Given the description of an element on the screen output the (x, y) to click on. 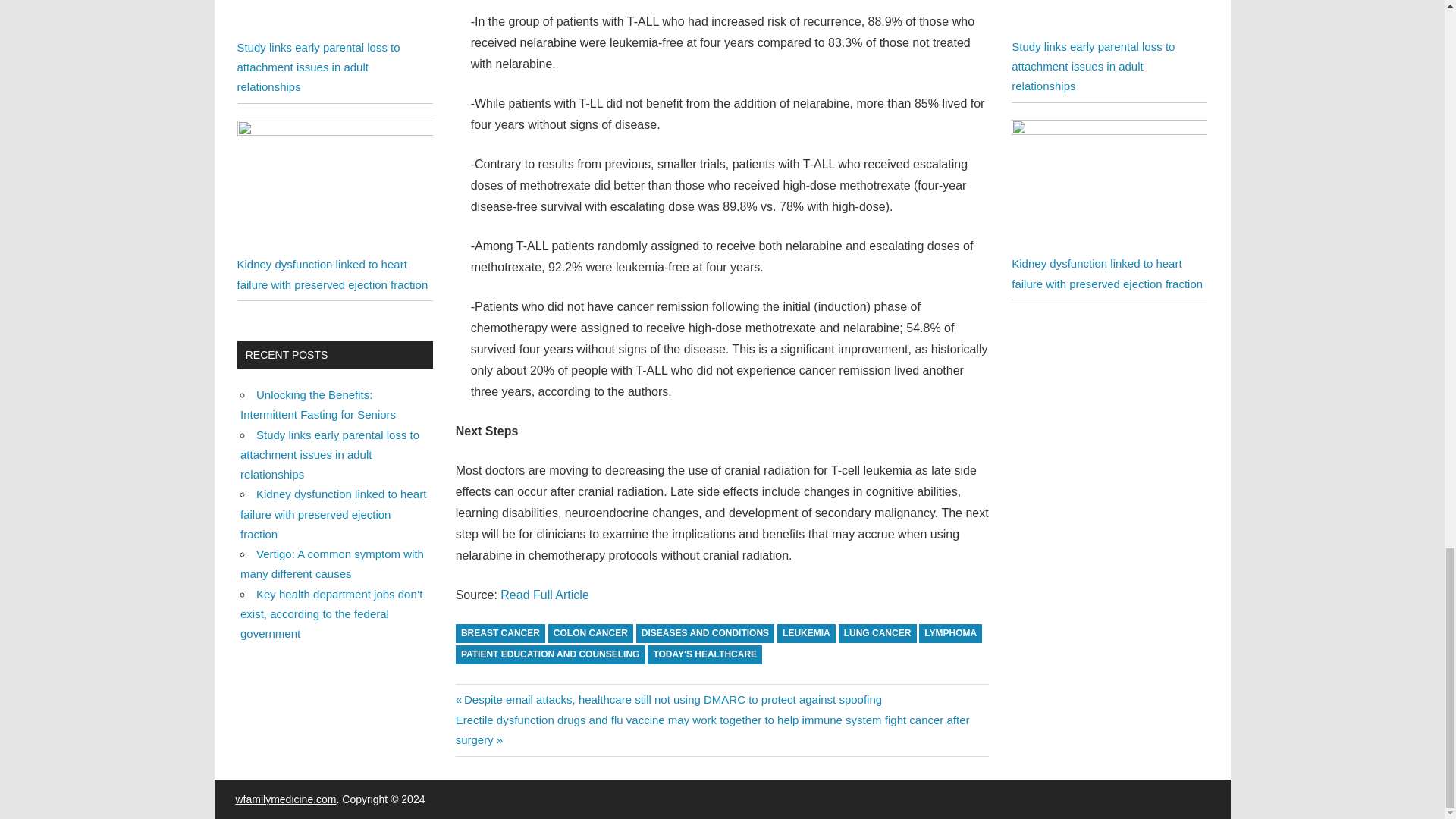
PATIENT EDUCATION AND COUNSELING (550, 654)
LEUKEMIA (806, 633)
LUNG CANCER (877, 633)
TODAY'S HEALTHCARE (704, 654)
COLON CANCER (590, 633)
